Given the description of an element on the screen output the (x, y) to click on. 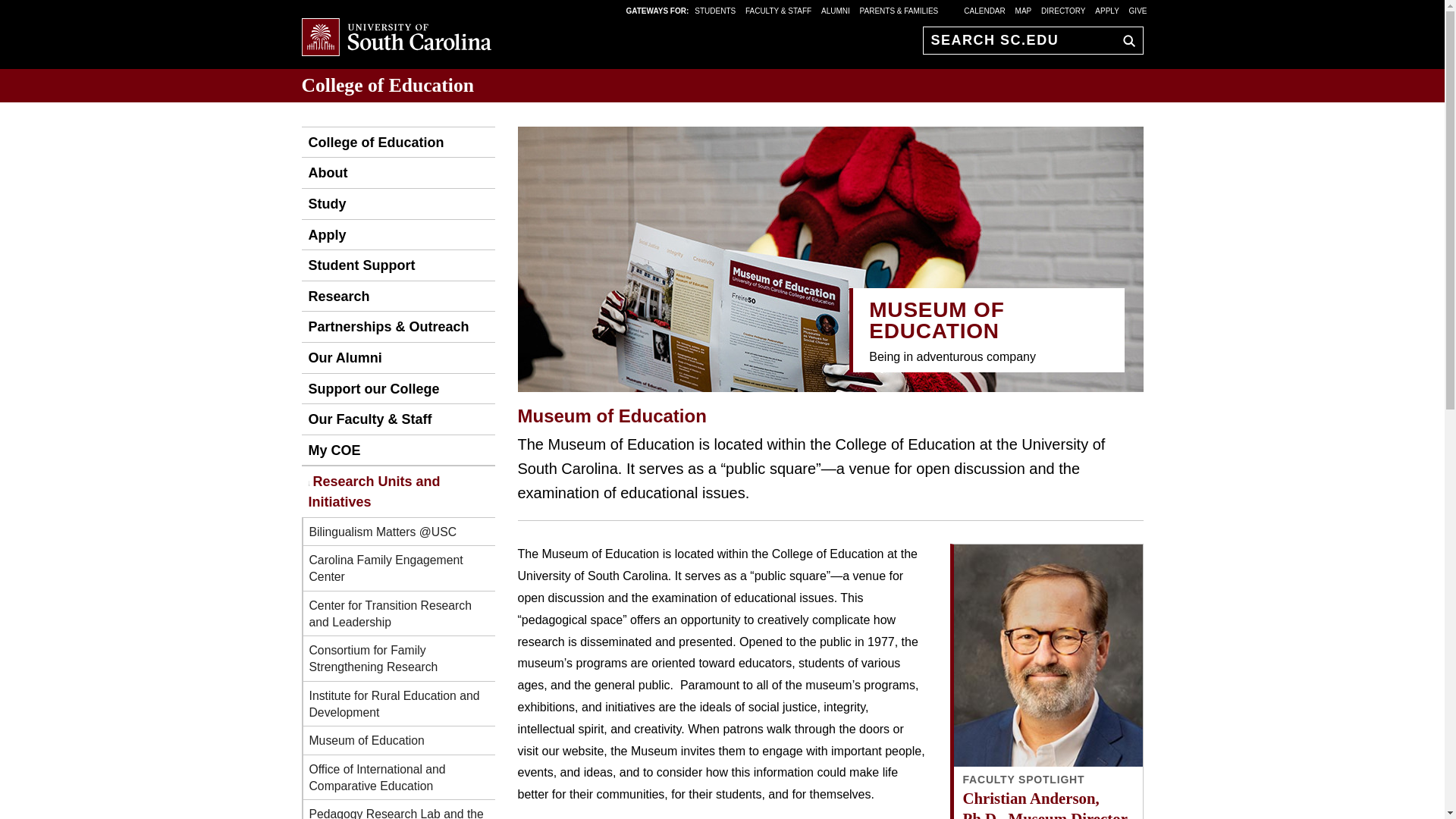
MAP (1023, 9)
ALUMNI (835, 9)
Research (335, 296)
GIVE (1138, 9)
Giving (370, 388)
APPLY (1106, 9)
College of Education (387, 85)
About (324, 173)
STUDENTS (716, 9)
School of Music (372, 142)
